Given the description of an element on the screen output the (x, y) to click on. 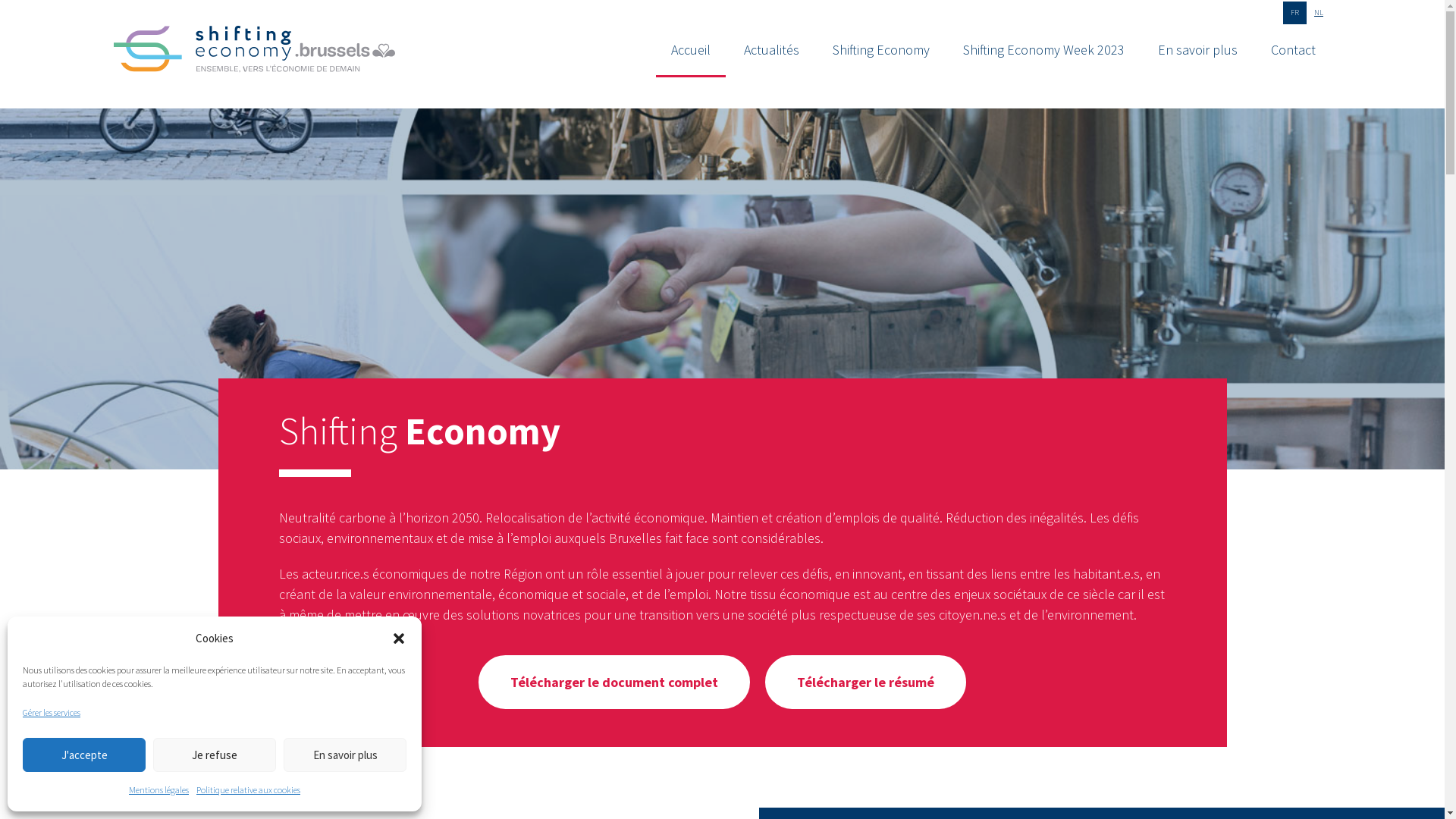
Shifting Economy Week 2023 Element type: text (1043, 49)
Je refuse Element type: text (214, 754)
Accueil Element type: text (690, 50)
Shifting Economy Element type: hover (254, 51)
Politique relative aux cookies Element type: text (248, 789)
NL Element type: text (1318, 12)
Shifting Economy Element type: text (880, 49)
Contact Element type: text (1292, 49)
J'accepte Element type: text (83, 754)
En savoir plus Element type: text (344, 754)
FR Element type: text (1294, 12)
En savoir plus Element type: text (1197, 49)
